Given the description of an element on the screen output the (x, y) to click on. 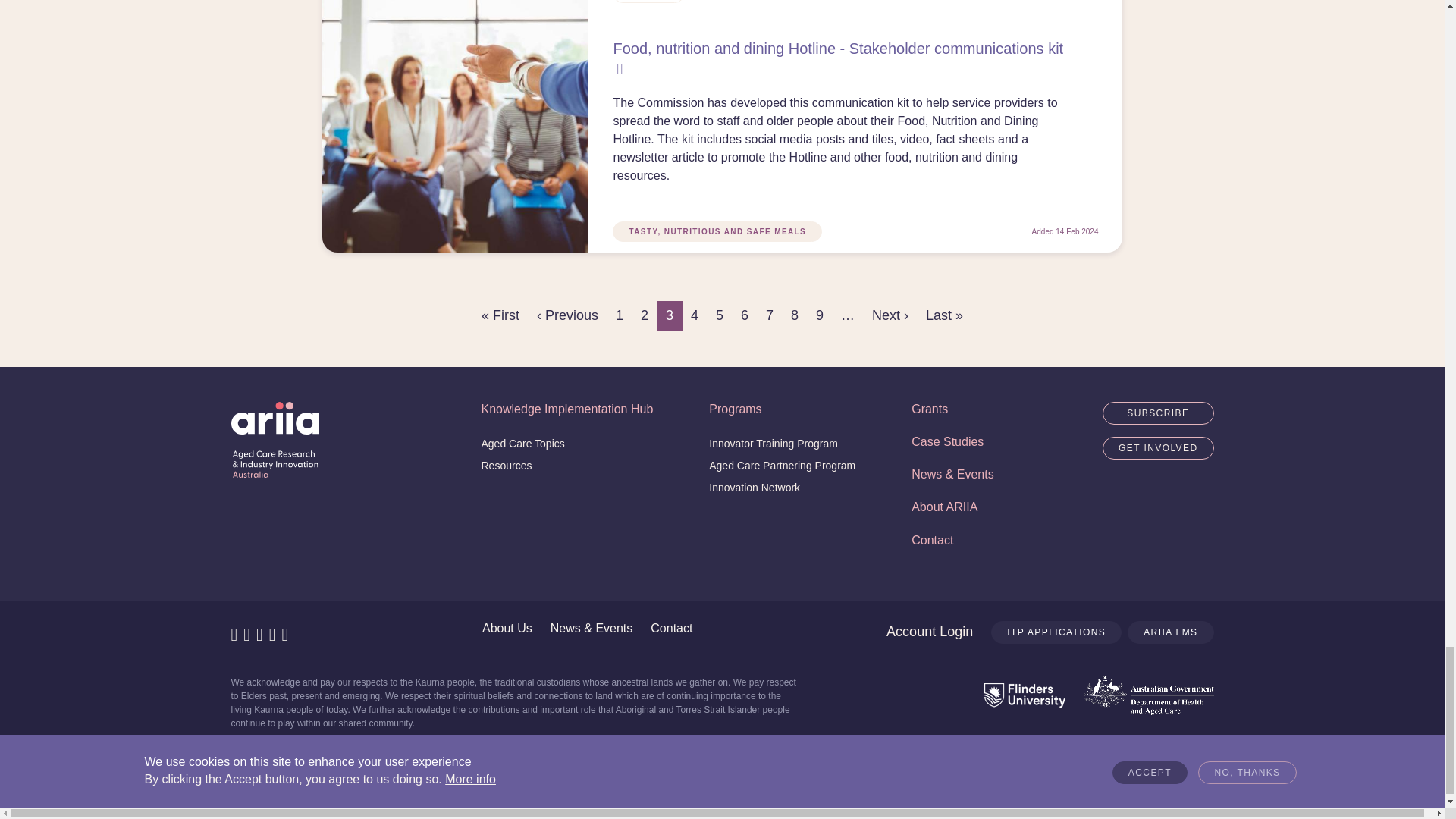
Go to last page (944, 315)
Go to next page (890, 315)
Go to previous page (567, 315)
Go to first page (499, 315)
